Given the description of an element on the screen output the (x, y) to click on. 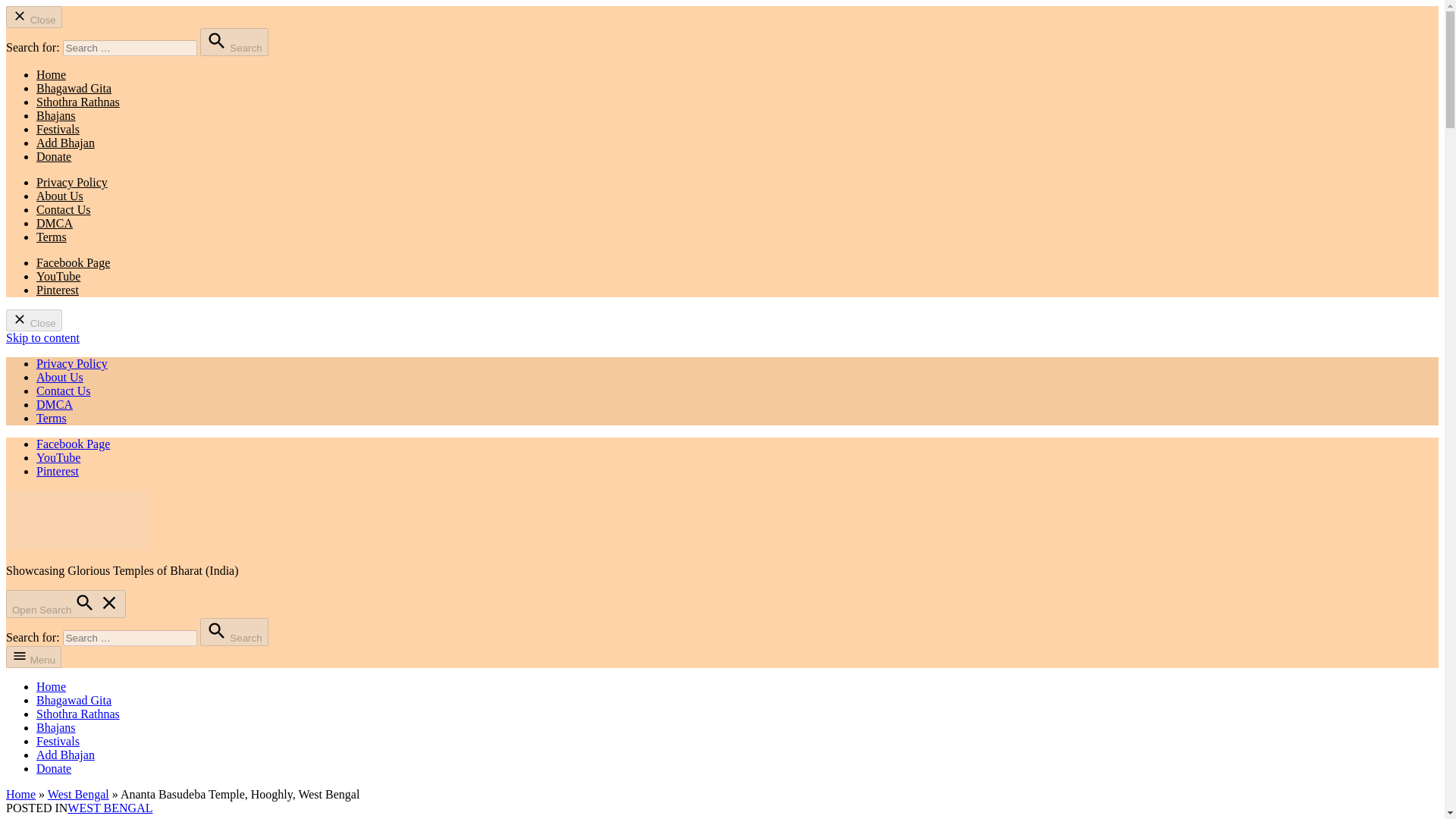
DMCA (54, 223)
Terms (51, 236)
Contact Us (63, 390)
Search (233, 41)
Home (50, 74)
Open Search (65, 603)
Skip to content (42, 337)
Festivals (58, 740)
DMCA (54, 404)
Close (33, 320)
Pinterest (57, 471)
Contact Us (63, 209)
About Us (59, 195)
Donate (53, 768)
YouTube (58, 276)
